Given the description of an element on the screen output the (x, y) to click on. 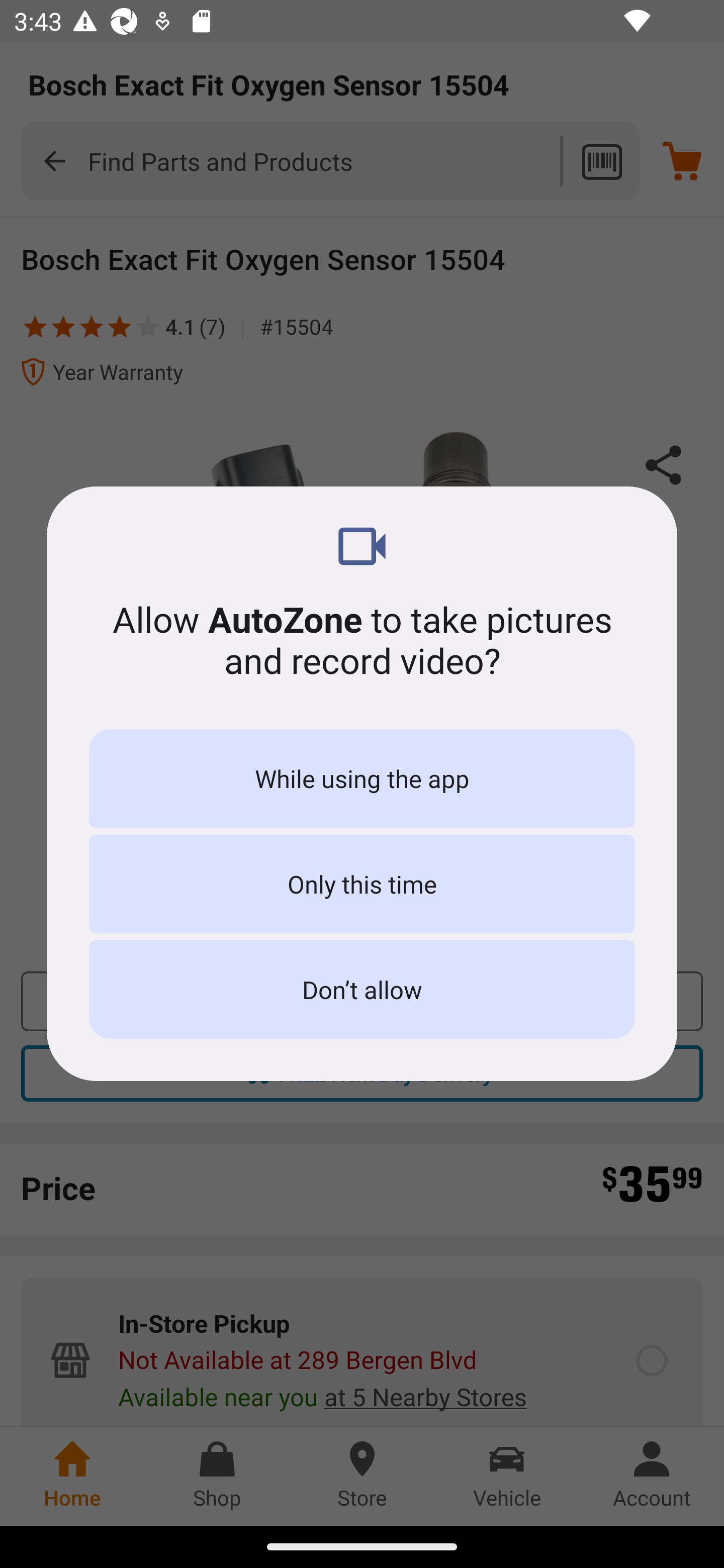
While using the app (361, 778)
Only this time (361, 883)
Don’t allow (361, 989)
